Given the description of an element on the screen output the (x, y) to click on. 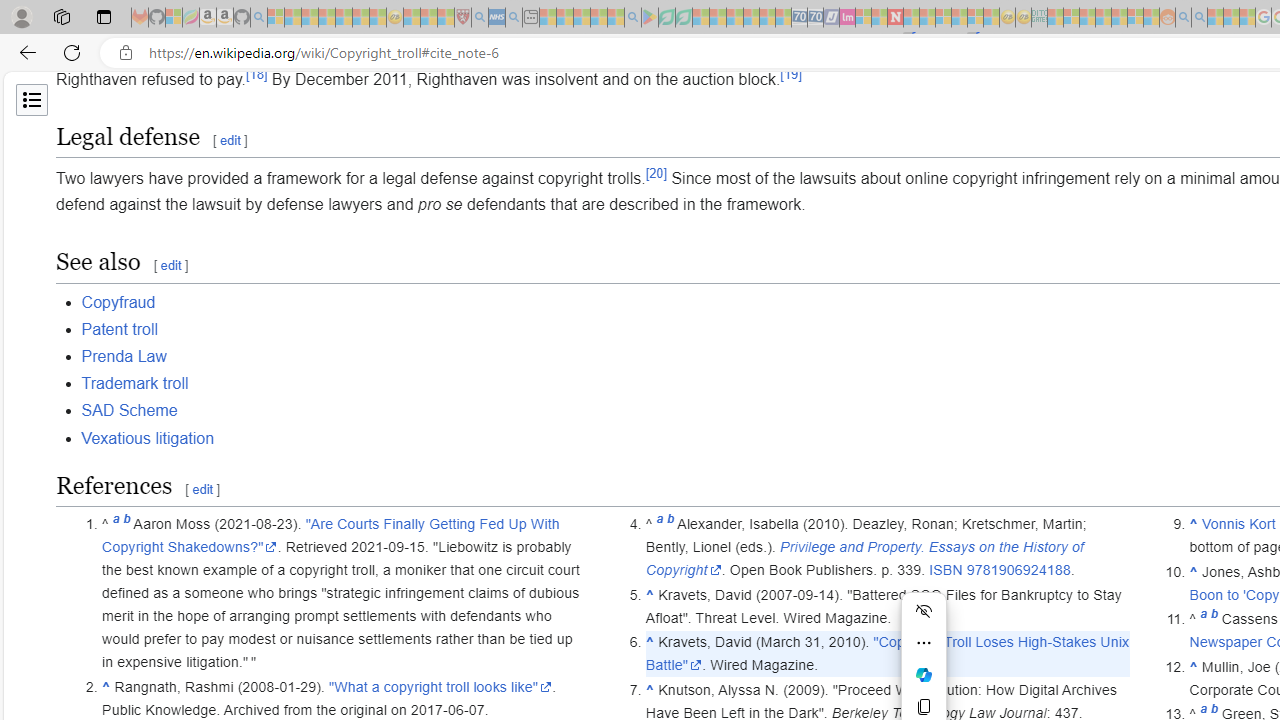
Jump up to: a (1203, 619)
Pets - MSN - Sleeping (598, 17)
SAD Scheme (128, 410)
ISBN (945, 570)
New Report Confirms 2023 Was Record Hot | Watch - Sleeping (343, 17)
edit (202, 489)
Jump up (1193, 666)
